Given the description of an element on the screen output the (x, y) to click on. 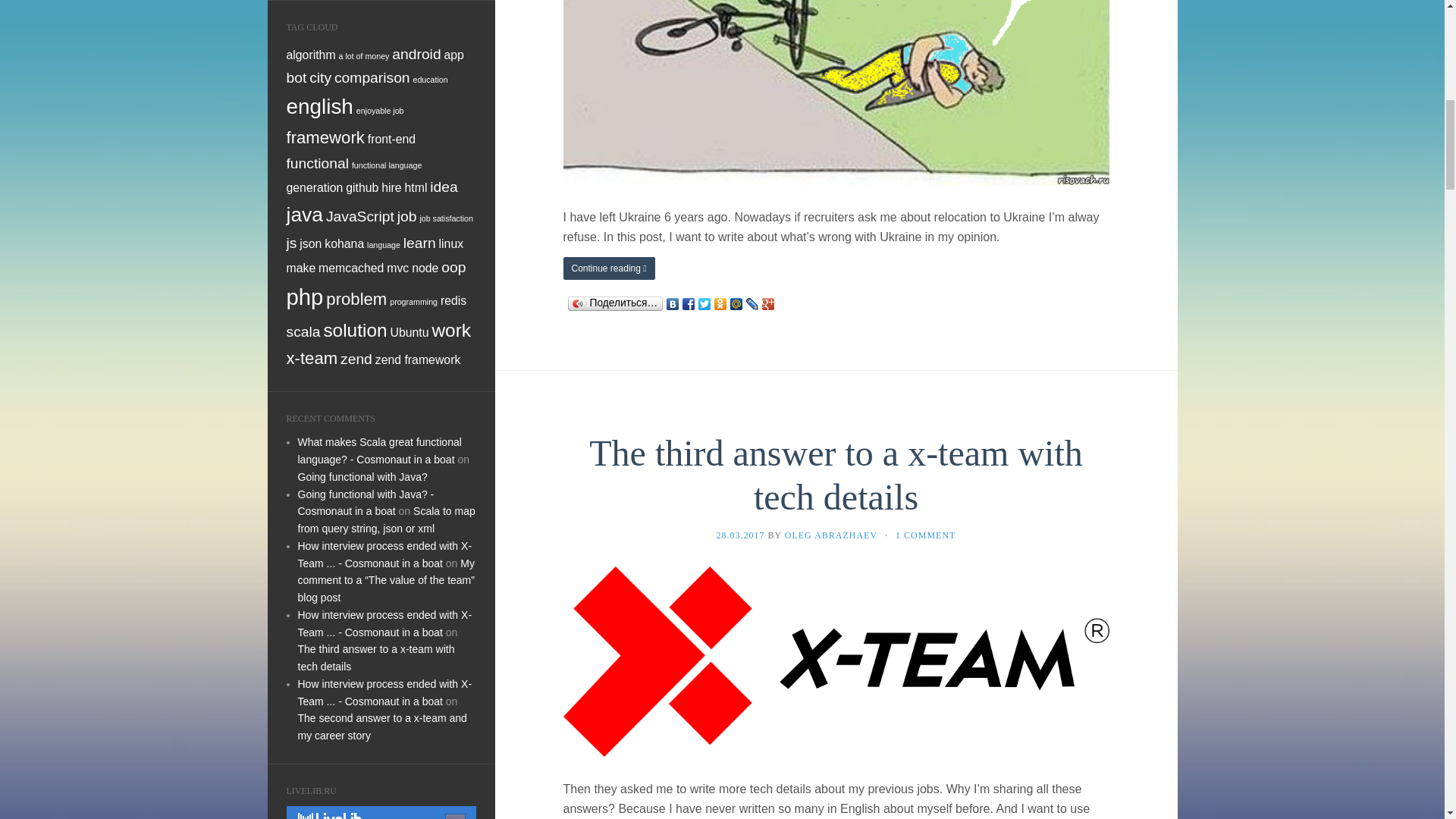
bot (296, 77)
education (429, 79)
comparison (372, 77)
algorithm (311, 54)
front-end (391, 138)
english (319, 106)
github (362, 187)
android (416, 53)
framework (325, 137)
city (319, 77)
